Given the description of an element on the screen output the (x, y) to click on. 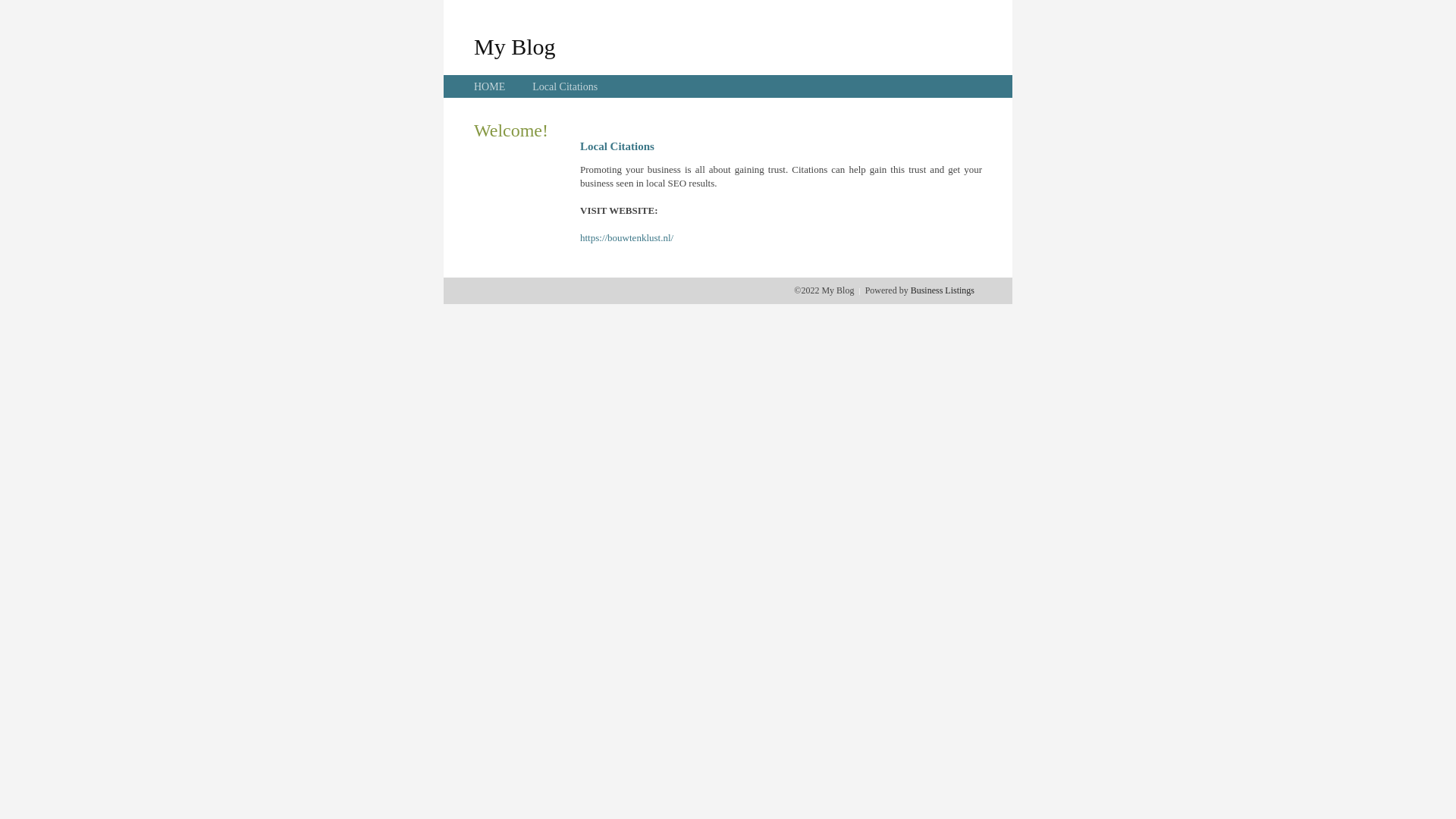
Local Citations Element type: text (564, 86)
My Blog Element type: text (514, 46)
https://bouwtenklust.nl/ Element type: text (626, 237)
Business Listings Element type: text (942, 290)
HOME Element type: text (489, 86)
